Given the description of an element on the screen output the (x, y) to click on. 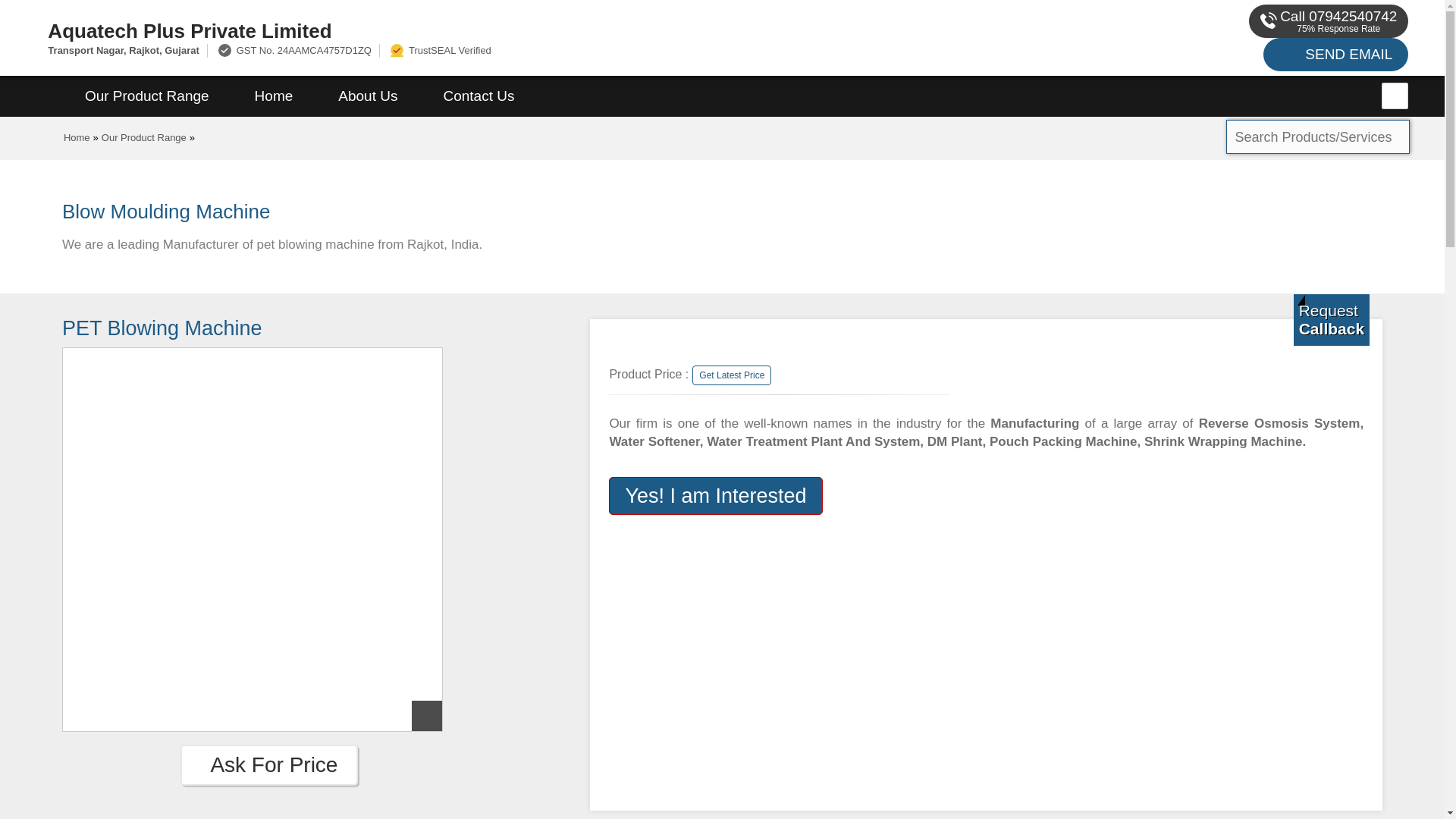
Aquatech Plus Private Limited (485, 31)
Our Product Range (146, 96)
Get a Call from us (1332, 319)
Home (273, 96)
About Us (367, 96)
